Given the description of an element on the screen output the (x, y) to click on. 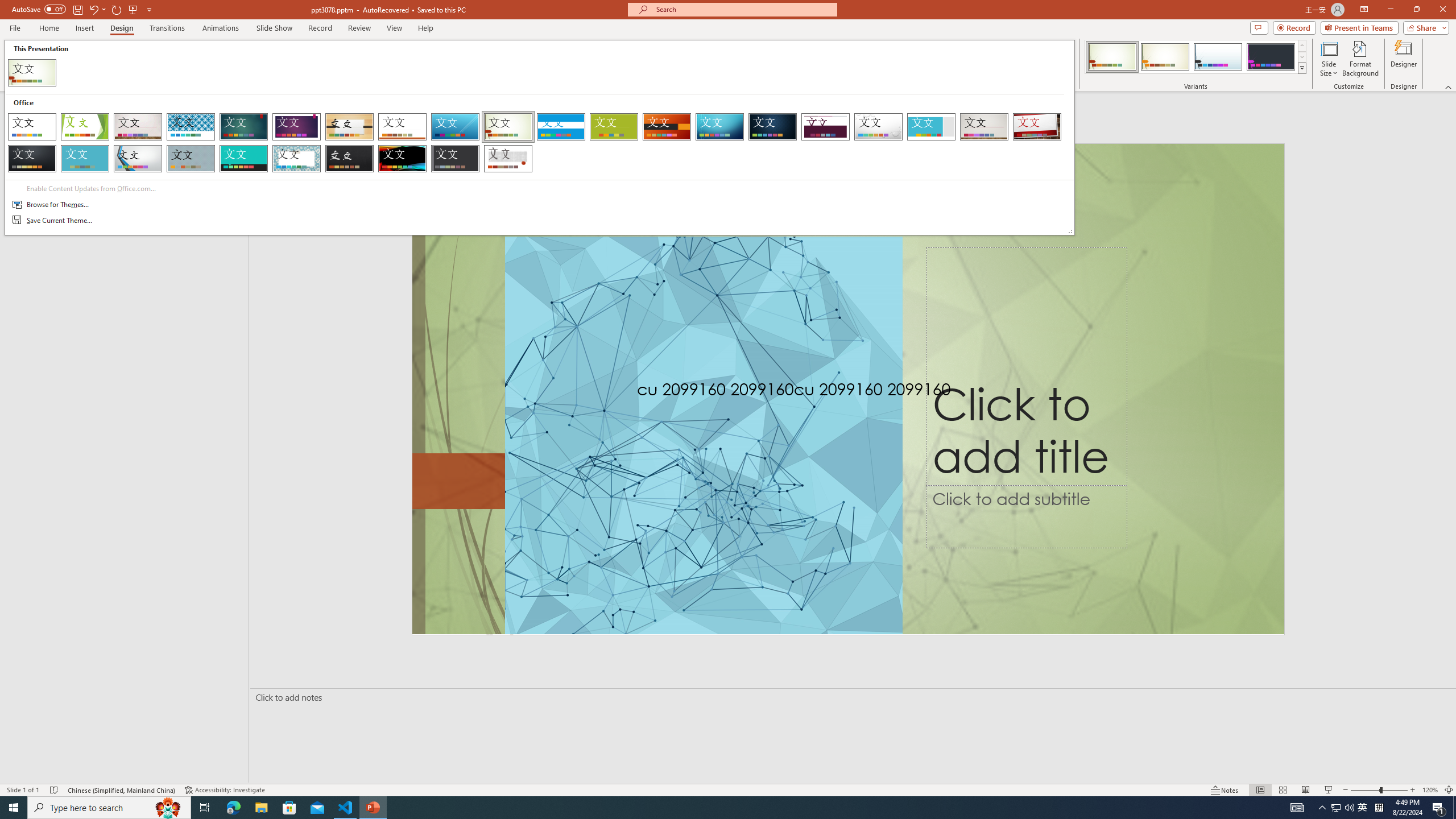
Task View (204, 807)
Wisp Variant 3 (1217, 56)
Row Down (1301, 56)
Search highlights icon opens search home window (167, 807)
Wisp Variant 2 (1164, 56)
Action Center, 1 new notification (1439, 807)
Type here to search (108, 807)
AutomationID: 4105 (1297, 807)
